Given the description of an element on the screen output the (x, y) to click on. 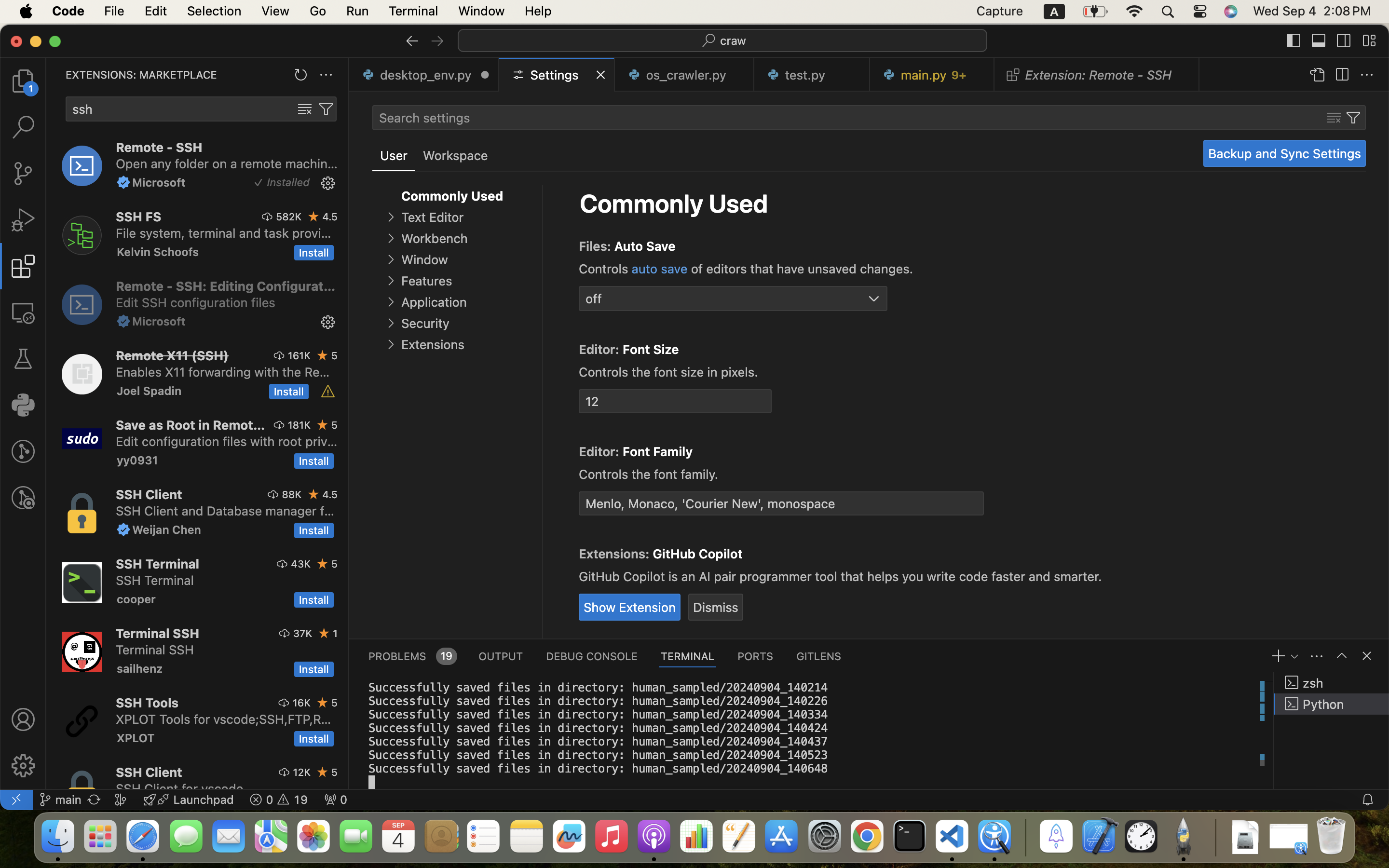
Save as Root in Remote - SSH Element type: AXStaticText (190, 424)
Editor: Element type: AXStaticText (600, 349)
Search settings Element type: AXStaticText (424, 117)
12K Element type: AXStaticText (301, 771)
37K Element type: AXStaticText (302, 632)
